Given the description of an element on the screen output the (x, y) to click on. 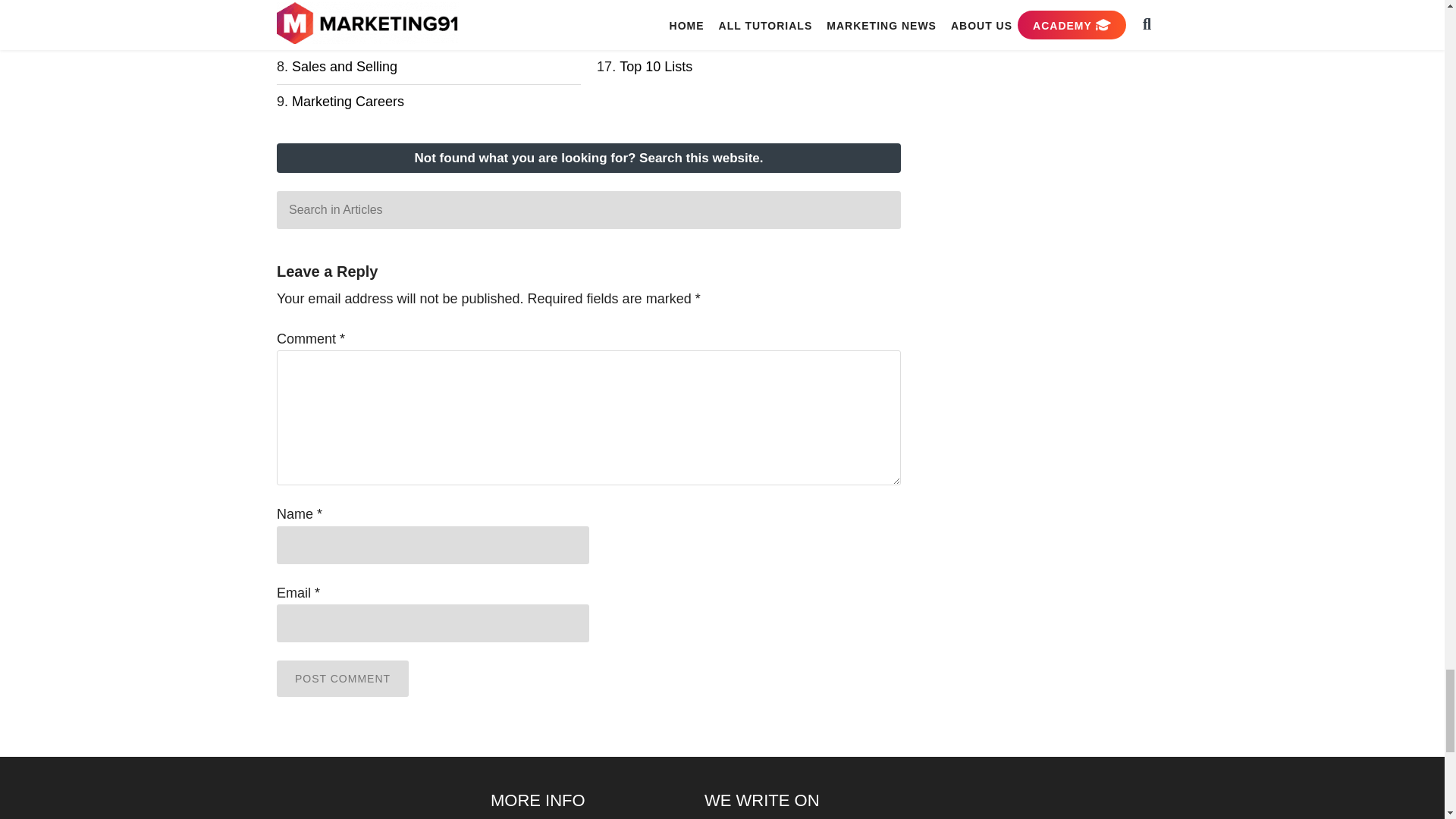
Post Comment (342, 678)
